Given the description of an element on the screen output the (x, y) to click on. 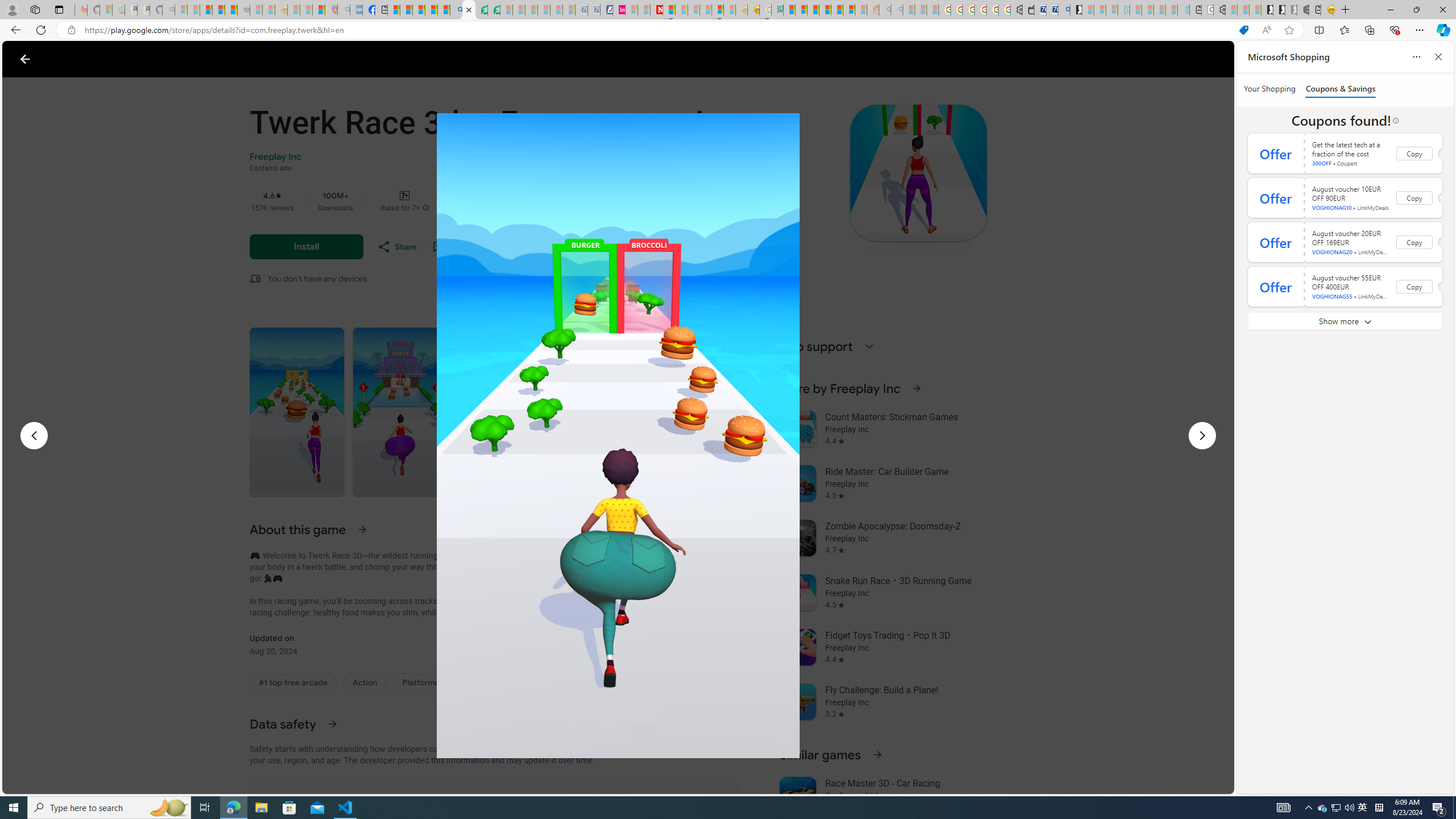
Casual (480, 682)
Google Play logo (65, 58)
Screenshot image (710, 411)
